Given the description of an element on the screen output the (x, y) to click on. 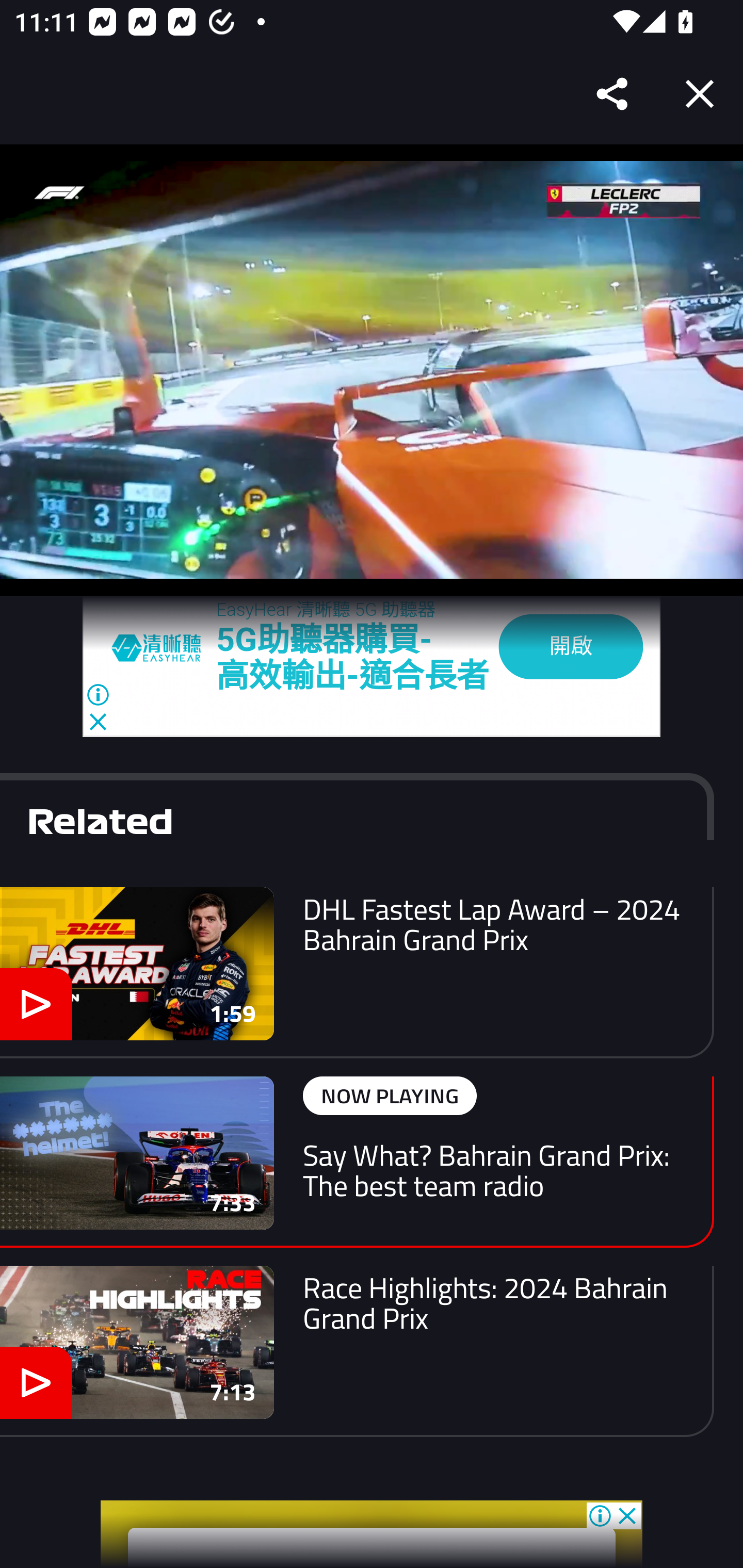
Share (612, 93)
Close (699, 93)
Video Player (371, 369)
easyhear.com (163, 646)
開啟 (570, 646)
5G助聽器購買- 高效輸出-適合長者 5G助聽器購買- 高效輸出-適合長者 (353, 657)
7:13 Race Highlights: 2024 Bahrain Grand Prix (357, 1350)
